Given the description of an element on the screen output the (x, y) to click on. 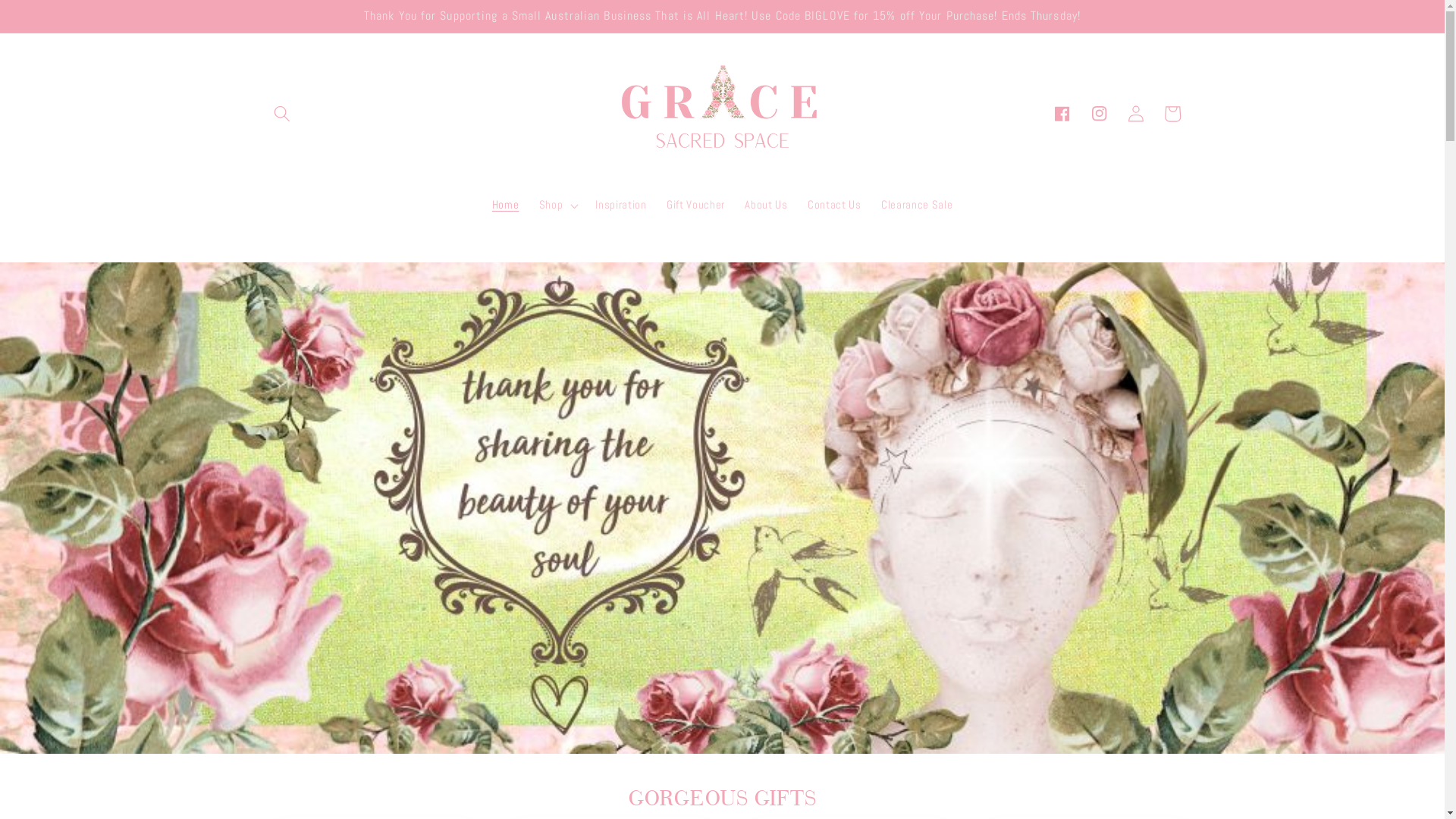
Clearance Sale Element type: text (917, 205)
Log in Element type: text (1135, 113)
Contact Us Element type: text (834, 205)
Instagram Element type: text (1099, 113)
Home Element type: text (505, 205)
About Us Element type: text (765, 205)
Inspiration Element type: text (620, 205)
Gift Voucher Element type: text (695, 205)
Cart Element type: text (1172, 113)
Facebook Element type: text (1062, 113)
